Given the description of an element on the screen output the (x, y) to click on. 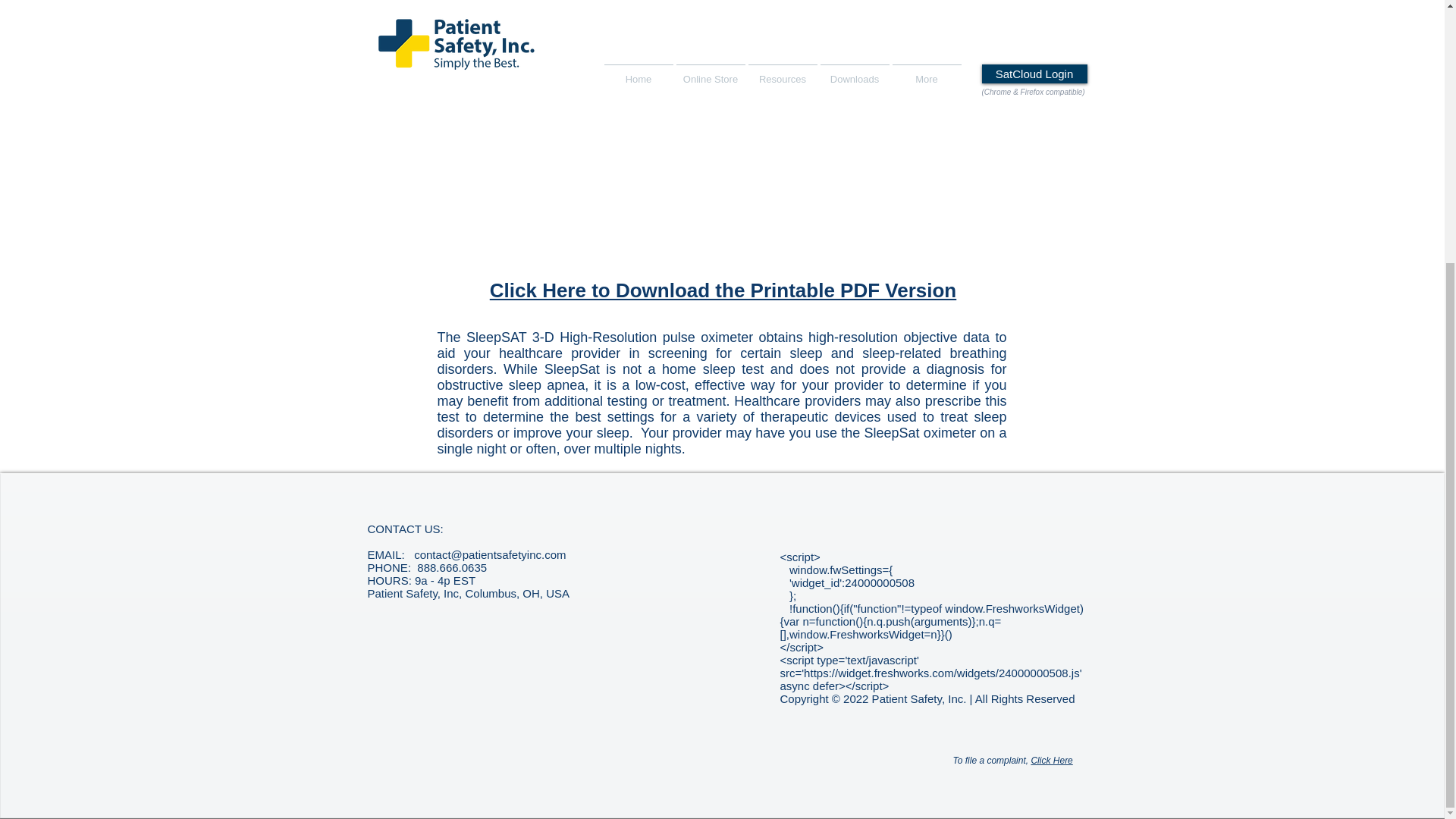
Click Here to Download the Printable PDF Version (722, 290)
Click Here (1050, 760)
